Given the description of an element on the screen output the (x, y) to click on. 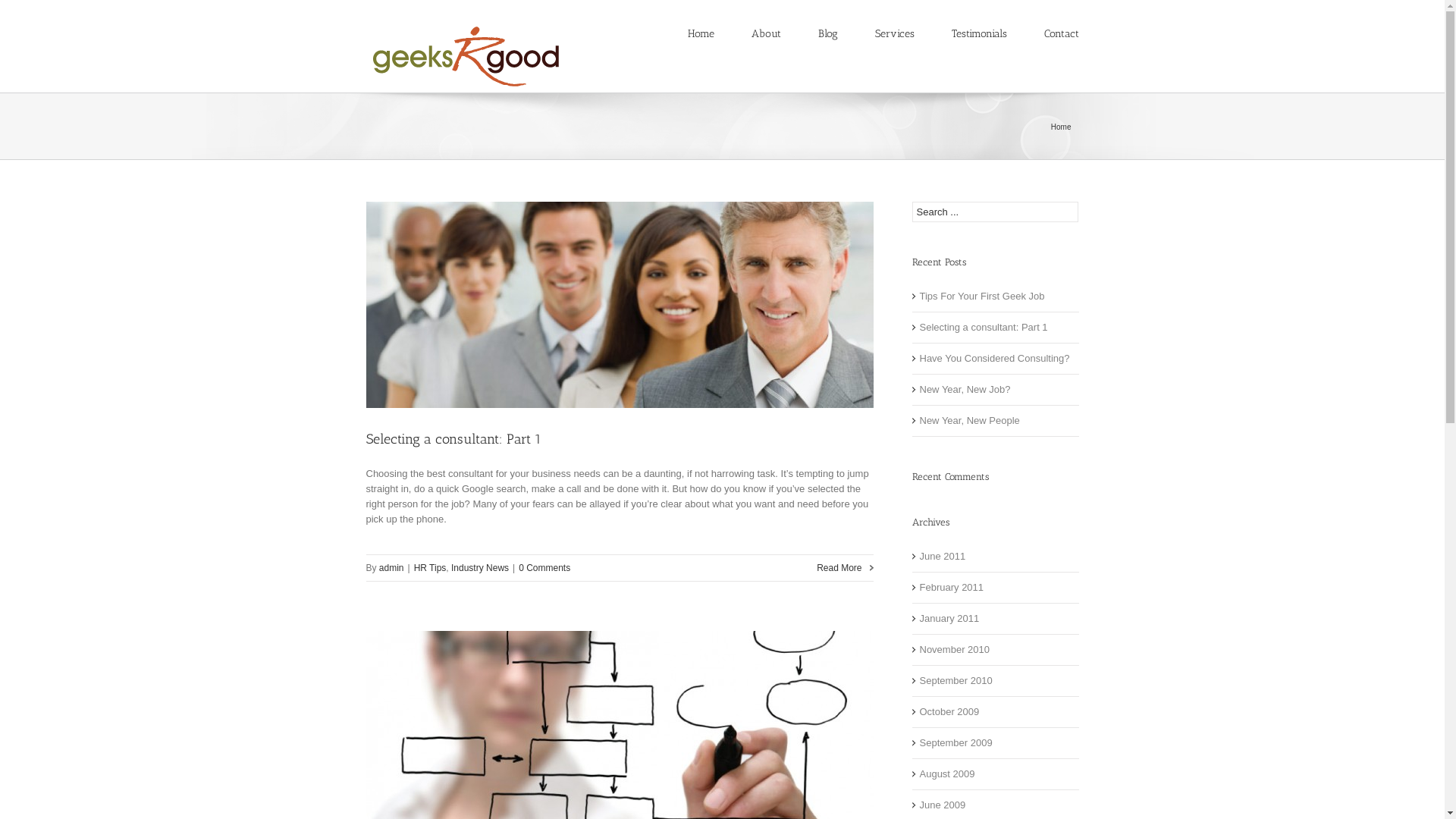
August 2009 Element type: text (994, 774)
January 2011 Element type: text (994, 618)
September 2009 Element type: text (994, 743)
HR Tips Element type: text (430, 567)
Selecting a consultant: Part 1 Element type: text (452, 438)
0 Comments Element type: text (544, 567)
Read More Element type: text (844, 567)
Selecting a consultant: Part 1 Element type: text (994, 327)
Testimonials Element type: text (978, 32)
About Element type: text (765, 32)
Home Element type: text (700, 32)
Tips For Your First Geek Job Element type: text (994, 296)
Services Element type: text (894, 32)
Home Element type: text (1063, 126)
New Year, New People Element type: text (994, 420)
June 2011 Element type: text (994, 556)
Contact Element type: text (1060, 32)
February 2011 Element type: text (994, 587)
admin Element type: text (391, 567)
Blog Element type: text (827, 32)
Industry News Element type: text (479, 567)
October 2009 Element type: text (994, 712)
Have You Considered Consulting? Element type: text (994, 358)
September 2010 Element type: text (994, 680)
New Year, New Job? Element type: text (994, 389)
November 2010 Element type: text (994, 649)
